Given the description of an element on the screen output the (x, y) to click on. 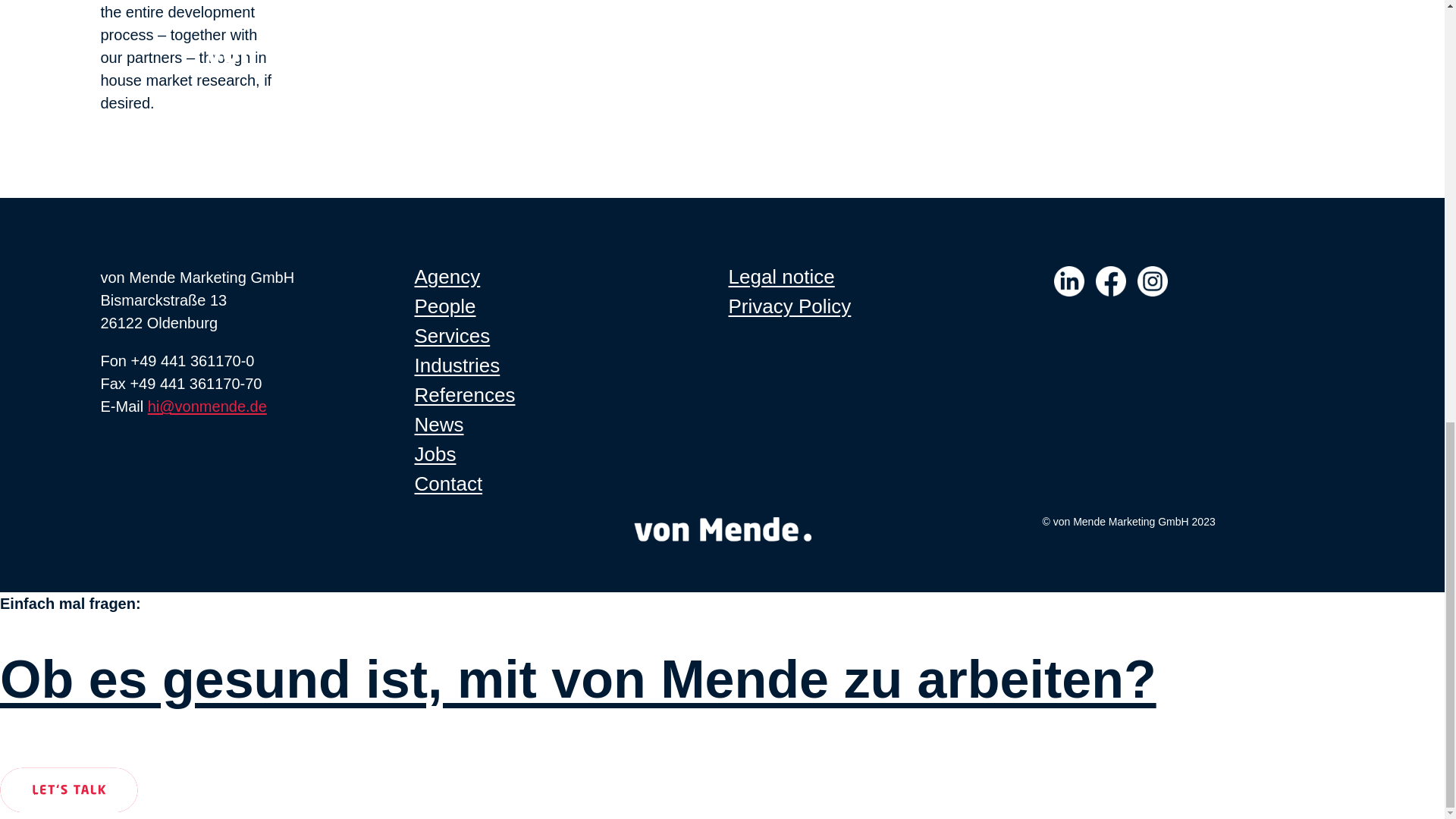
Privacy Policy (789, 305)
Jobs (434, 454)
References (464, 395)
Legal notice (781, 276)
Agency (446, 276)
Contact (447, 483)
button (69, 790)
Services (451, 335)
News (438, 424)
Industries (456, 364)
People (444, 305)
